Given the description of an element on the screen output the (x, y) to click on. 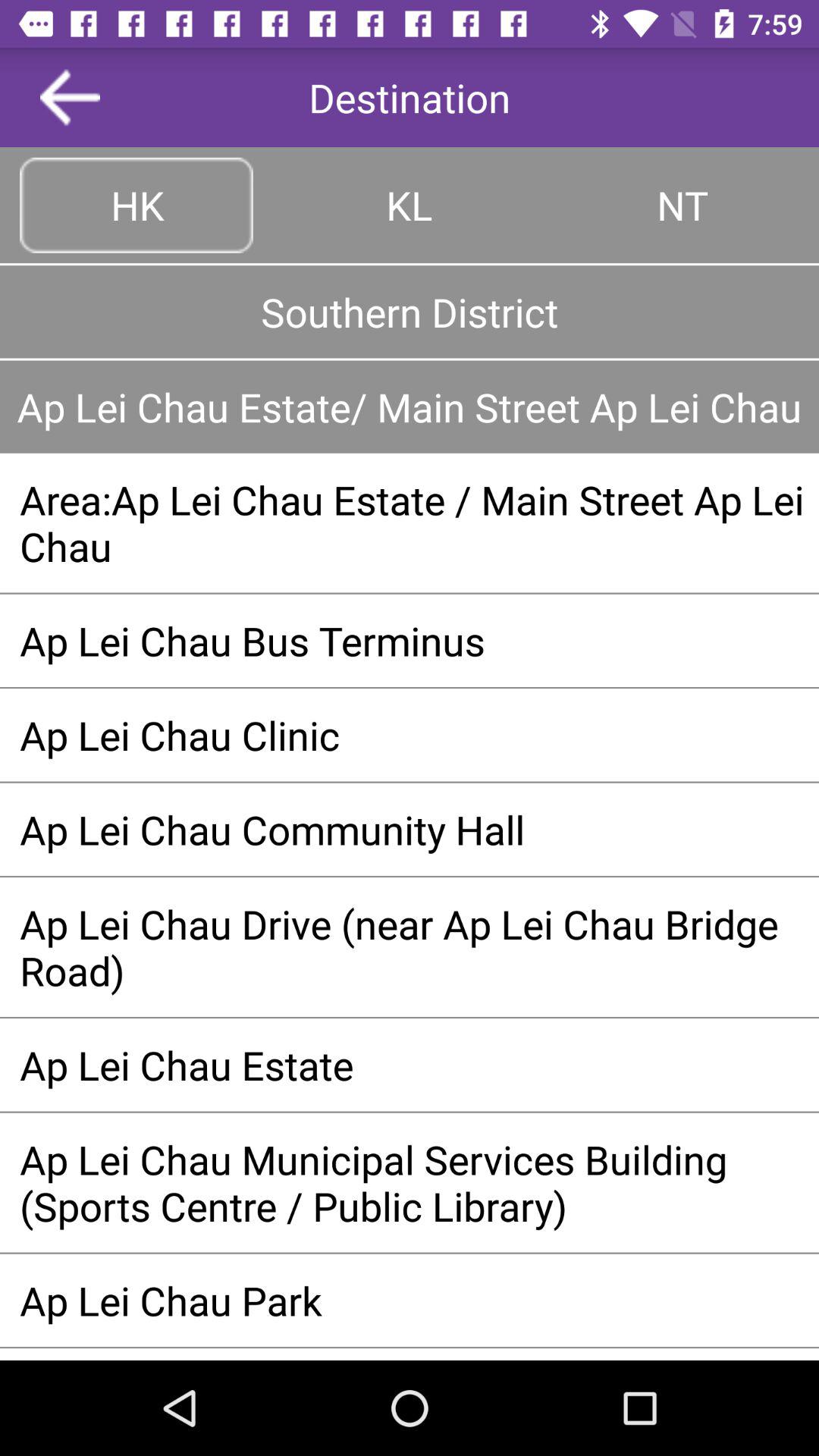
press the app below ap lei chau app (409, 522)
